Given the description of an element on the screen output the (x, y) to click on. 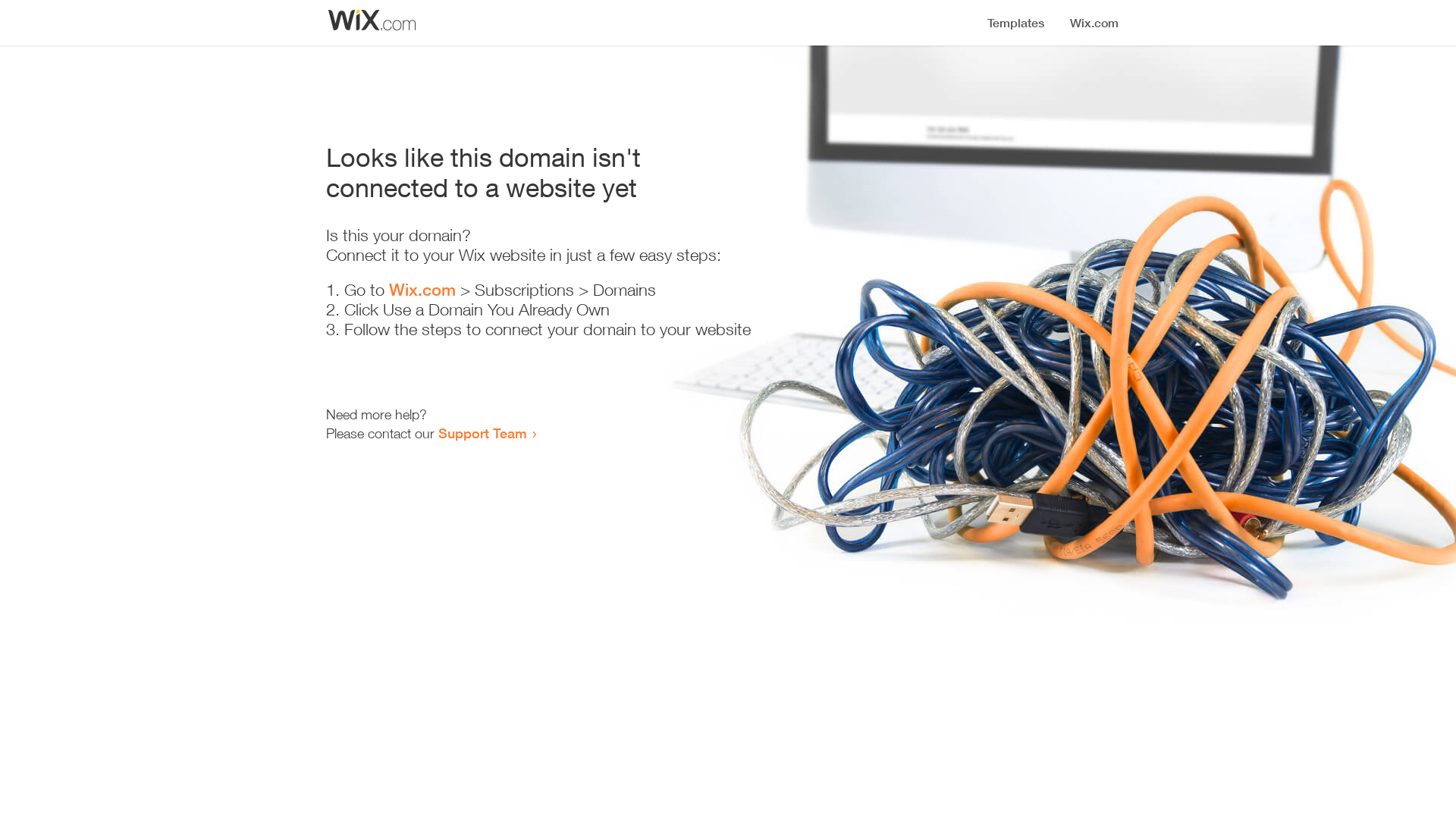
Support Team Element type: text (482, 432)
Wix.com Element type: text (422, 289)
